Given the description of an element on the screen output the (x, y) to click on. 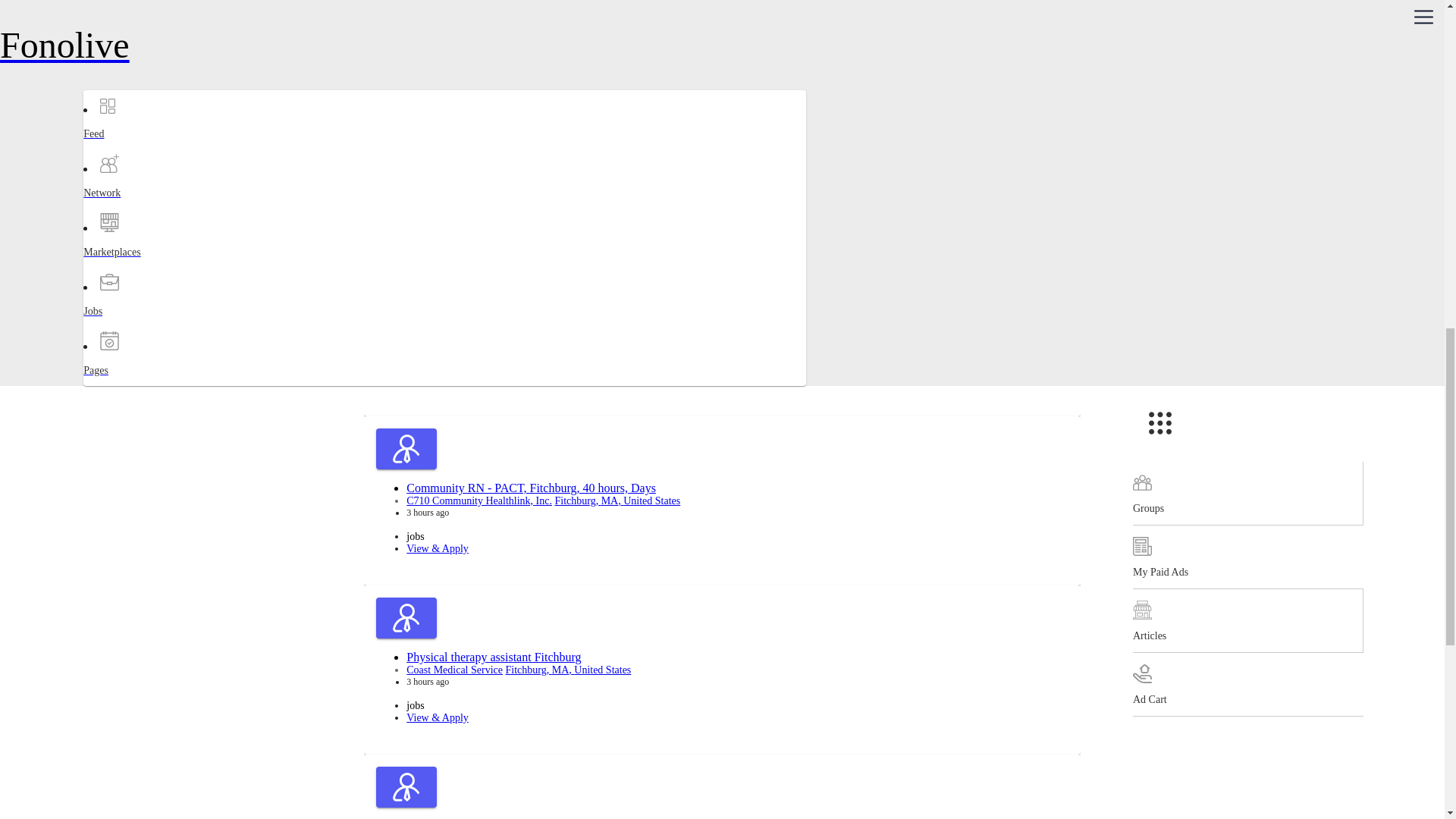
Ambulatory Care Coordinator Nurse Fitchburg (520, 149)
